Given the description of an element on the screen output the (x, y) to click on. 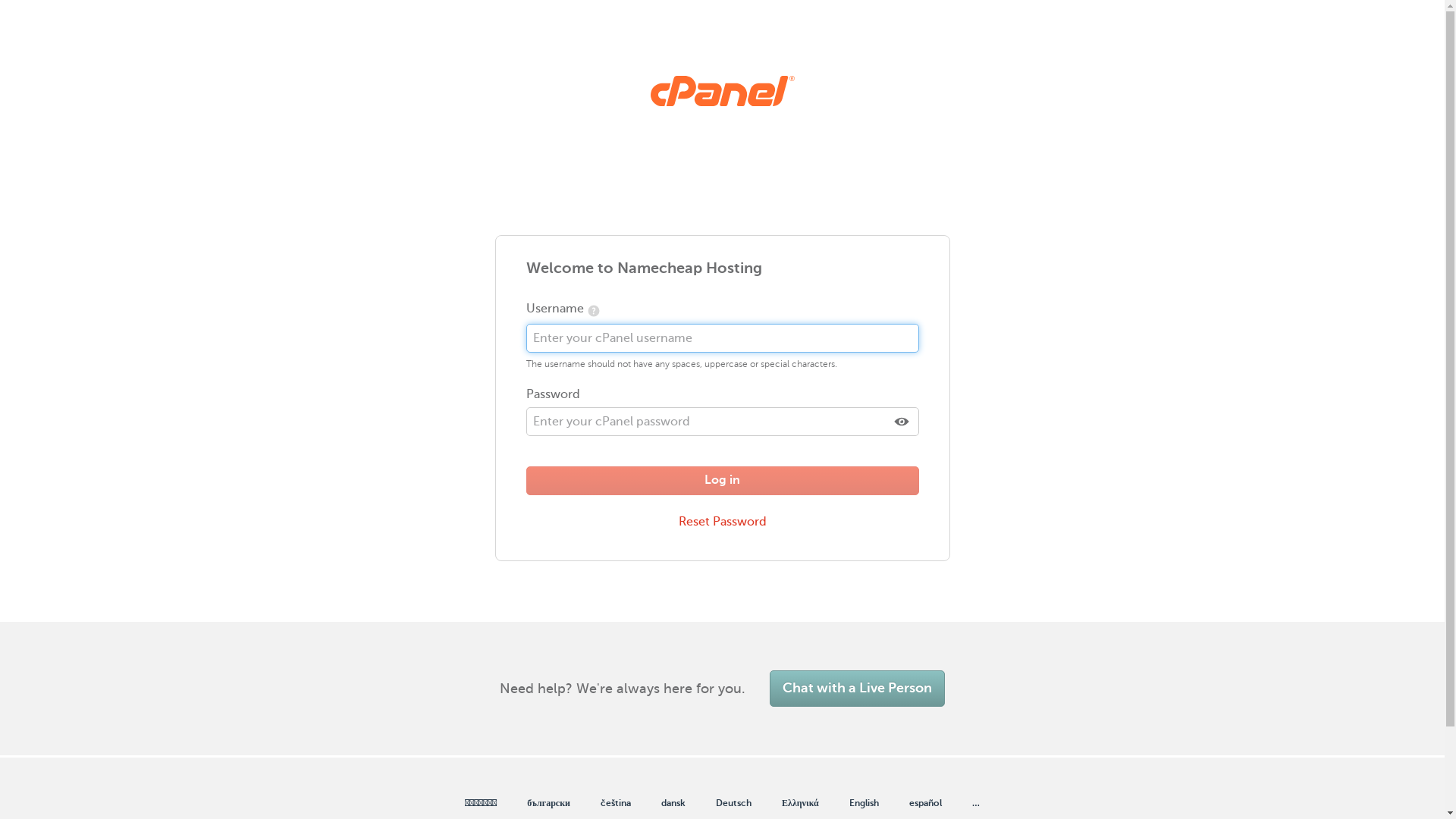
Log in Element type: text (722, 480)
English Element type: text (863, 803)
Reset Password Element type: text (722, 521)
Chat with a Live Person Element type: text (856, 688)
dansk Element type: text (673, 803)
Deutsch Element type: text (733, 803)
